Given the description of an element on the screen output the (x, y) to click on. 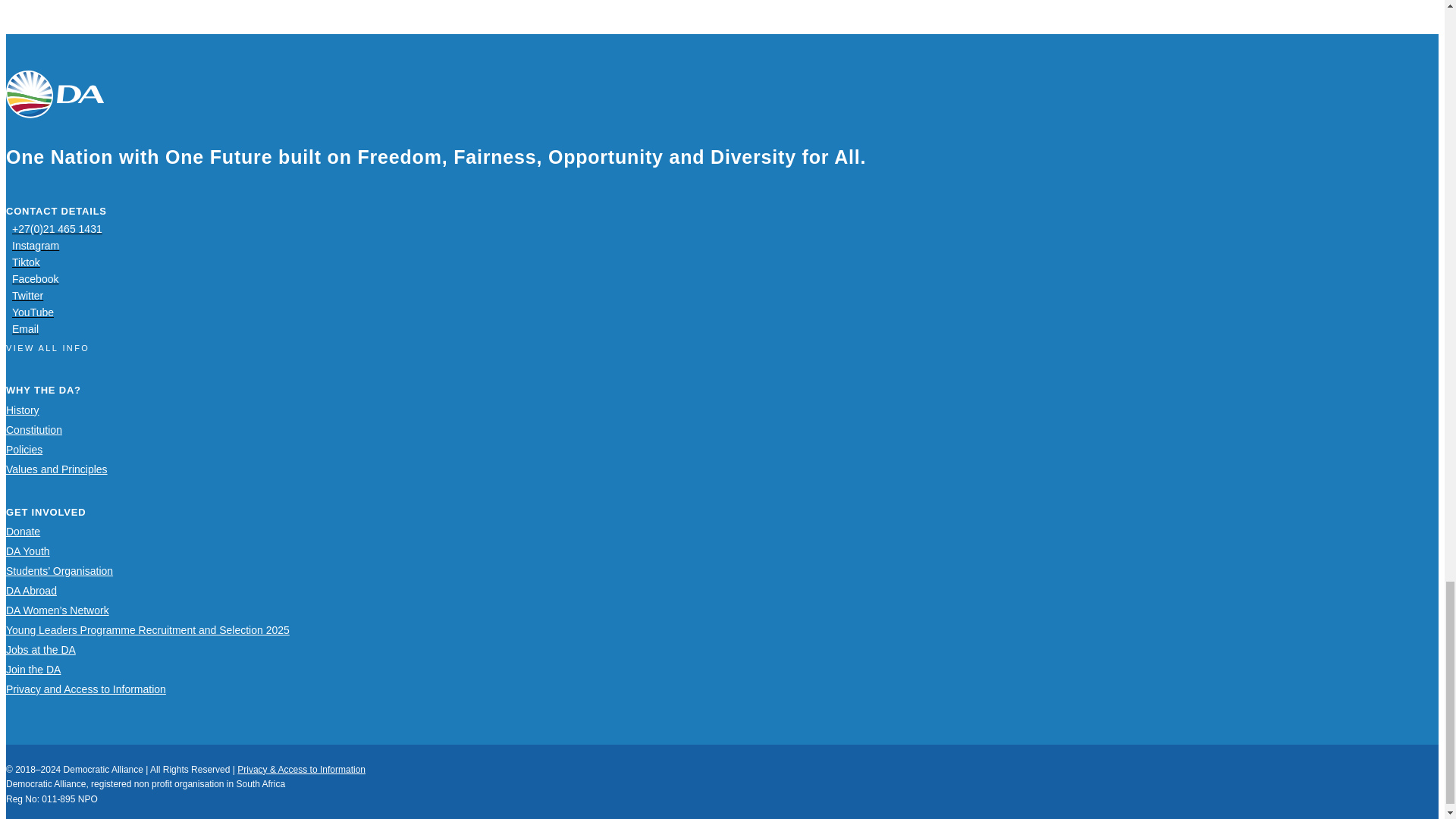
Democratic Alliance Logo (54, 93)
